Given the description of an element on the screen output the (x, y) to click on. 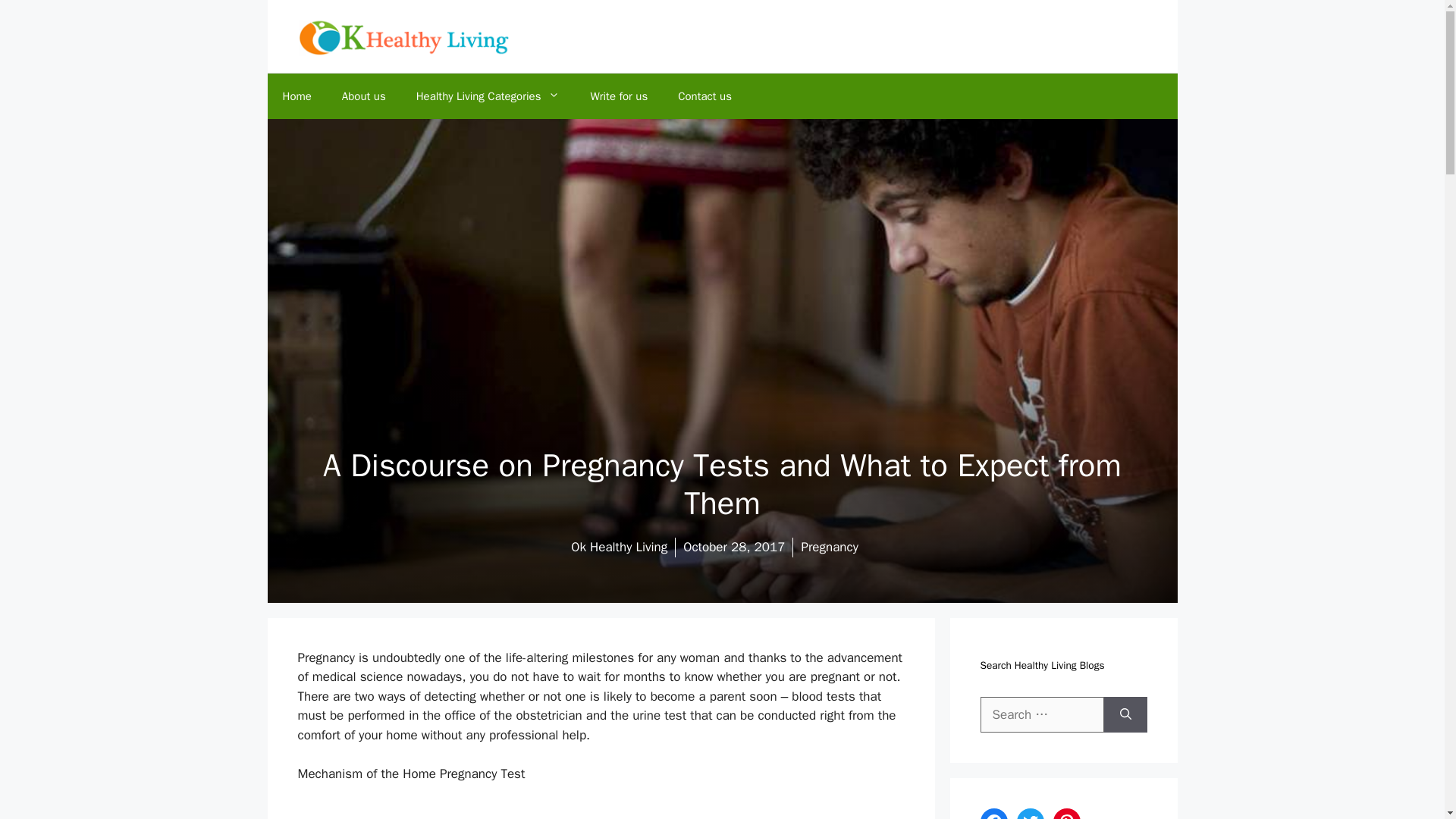
Facebook (993, 813)
Search for: (1041, 714)
Contact us (704, 95)
Write for us (618, 95)
Home (296, 95)
About us (363, 95)
Healthy Living Categories (488, 95)
